Given the description of an element on the screen output the (x, y) to click on. 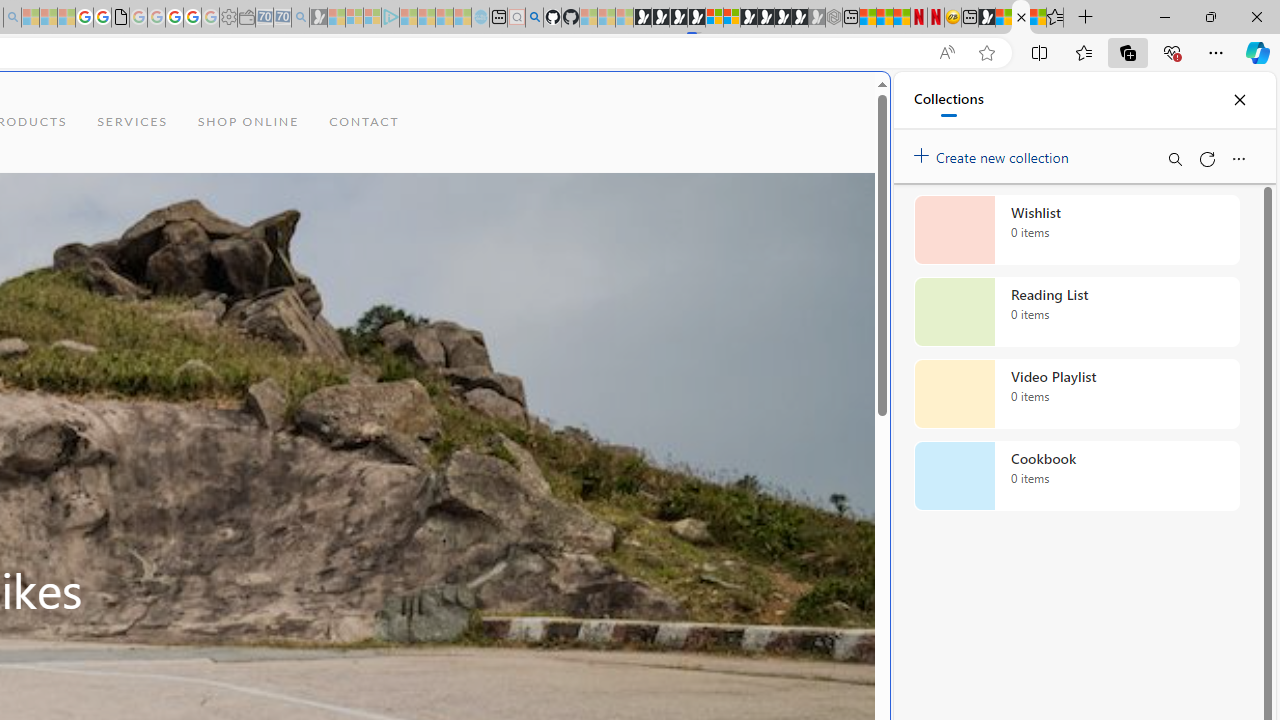
Create new collection (994, 153)
Close split screen (844, 102)
